Given the description of an element on the screen output the (x, y) to click on. 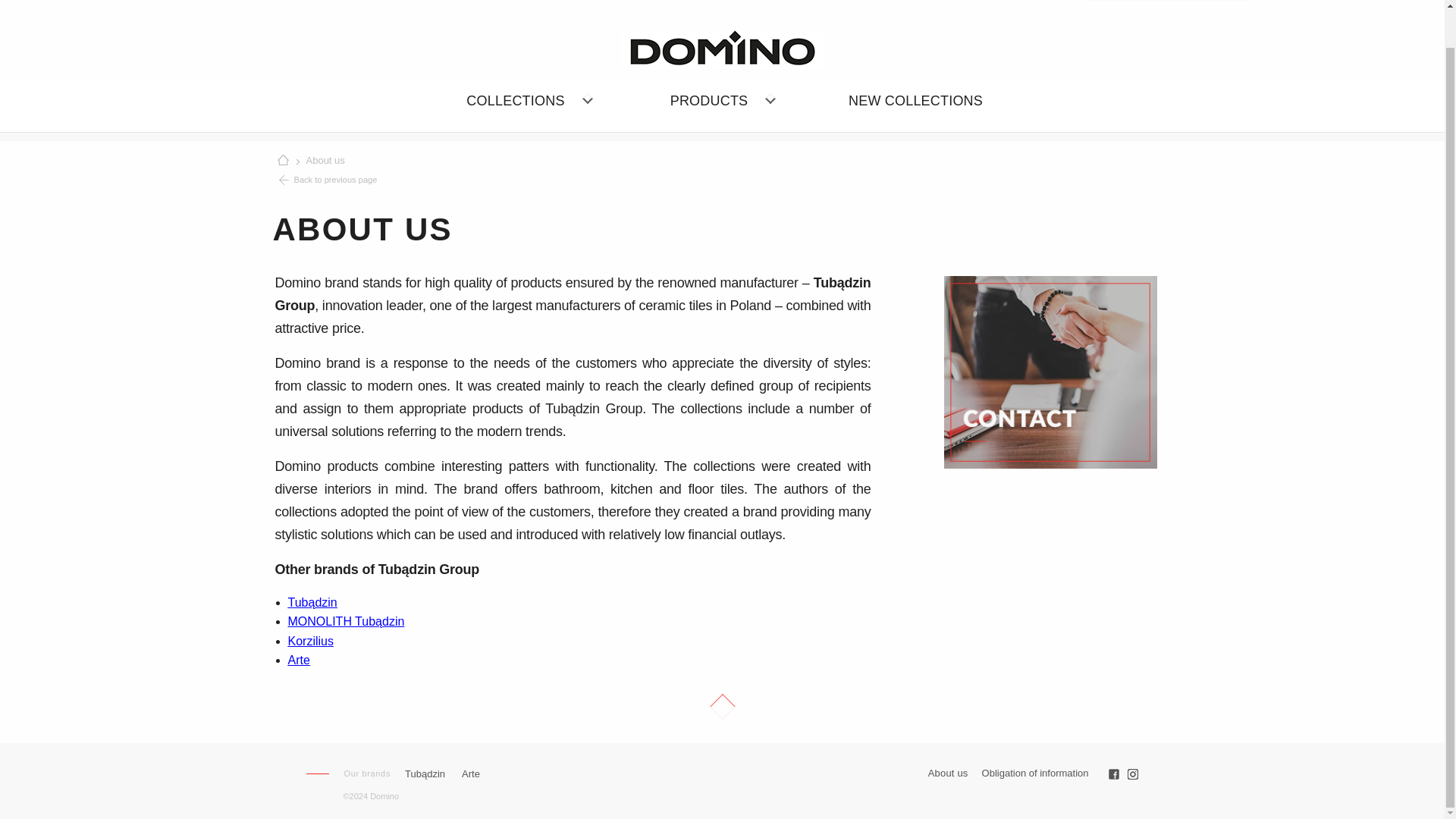
APPEARANCE (518, 162)
WALL TILES (654, 153)
LIVING ROOM AND BEDROOM (459, 160)
FINISHING ELEMENTS (654, 160)
NEW COLLECTIONS (915, 100)
PRODUCTS (722, 100)
COLLECTIONS (528, 100)
ROOM (465, 162)
BATHROOM (459, 153)
